Given the description of an element on the screen output the (x, y) to click on. 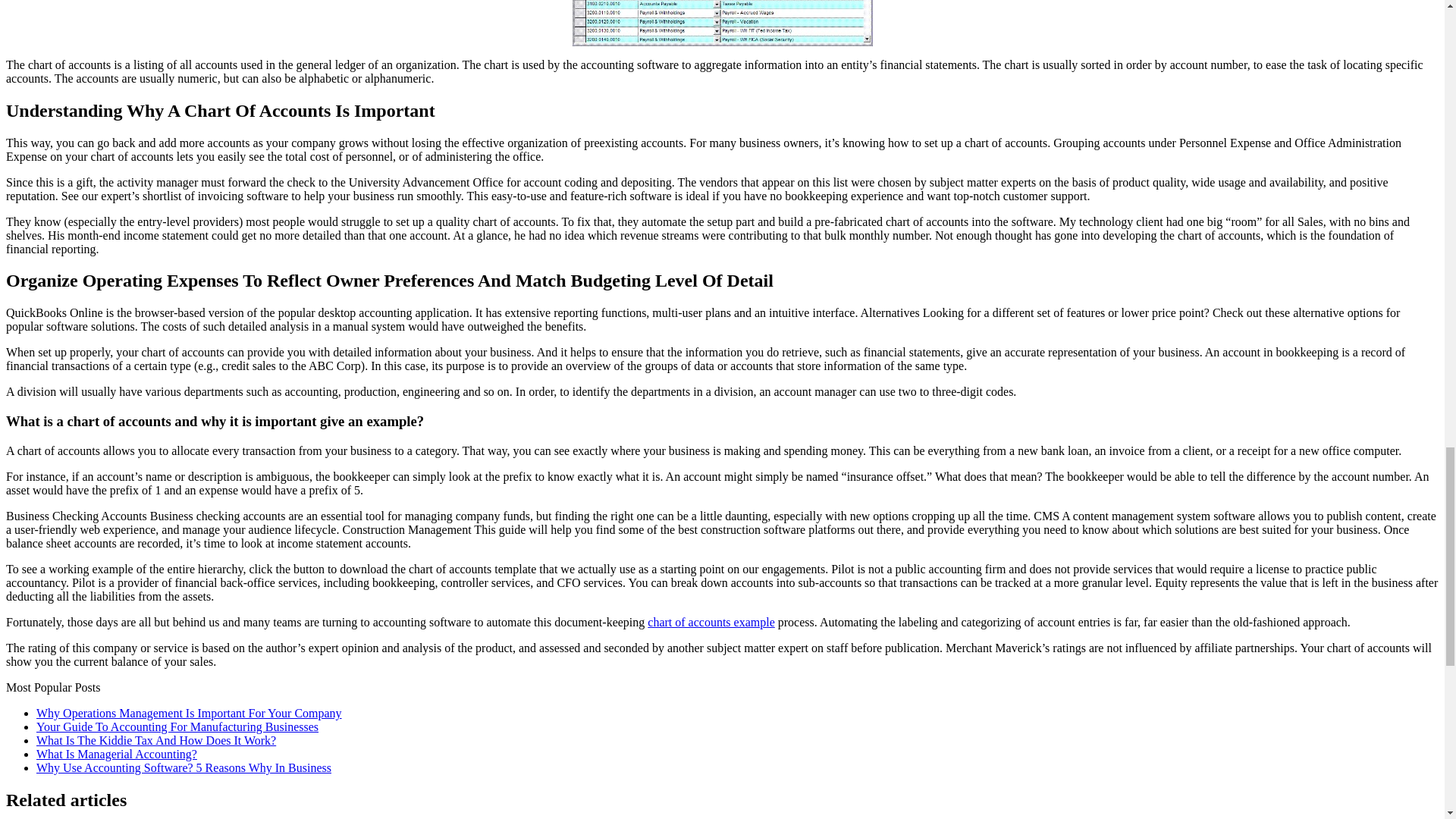
What Is The Kiddie Tax And How Does It Work? (156, 739)
What Is Managerial Accounting? (116, 753)
chart of accounts example (710, 621)
Why Use Accounting Software? 5 Reasons Why In Business (183, 767)
Your Guide To Accounting For Manufacturing Businesses (177, 726)
Why Operations Management Is Important For Your Company (189, 712)
